Given the description of an element on the screen output the (x, y) to click on. 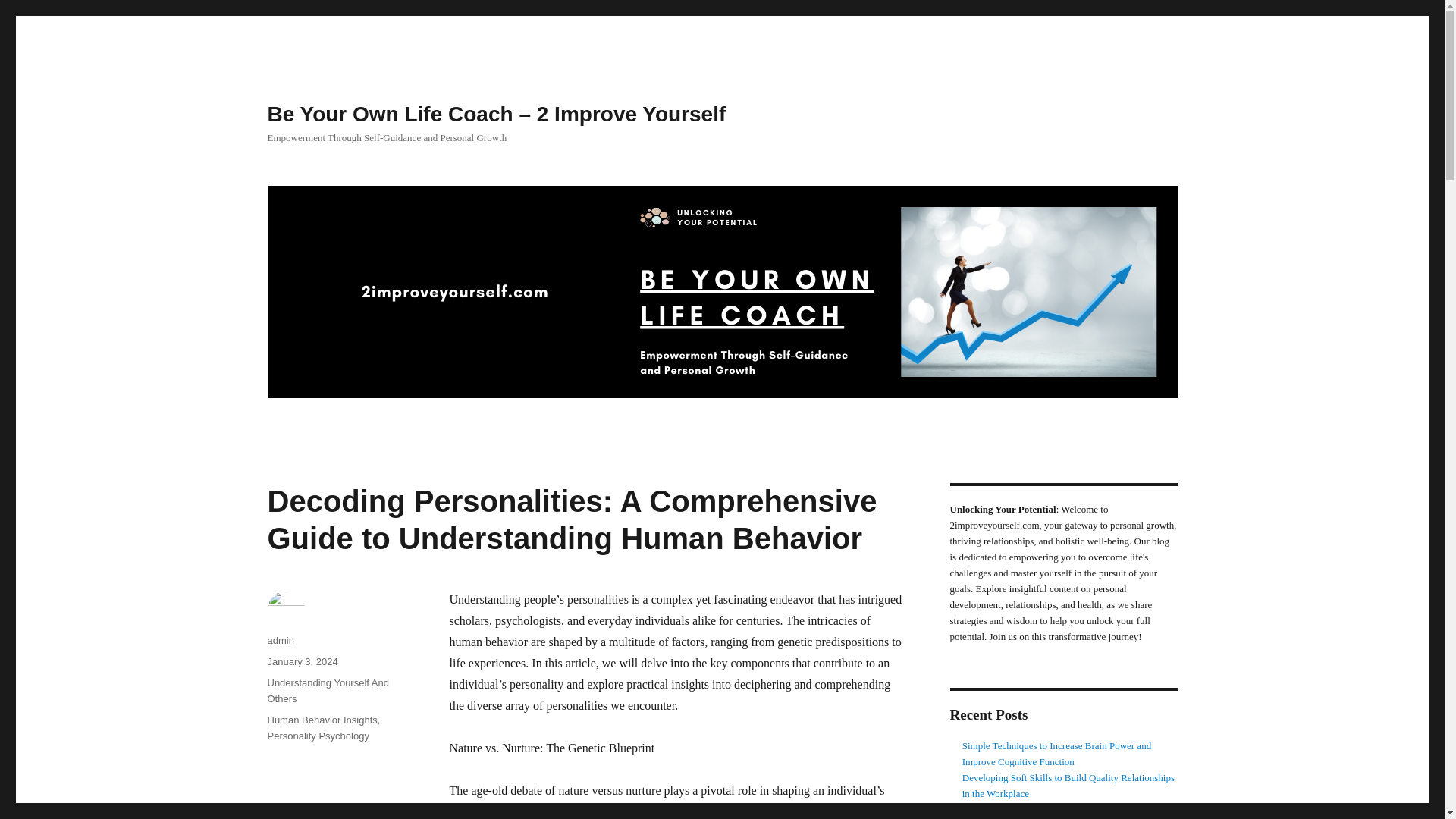
admin (280, 640)
Personality Psychology (317, 736)
Understanding Yourself And Others (327, 690)
Human Behavior Insights (321, 719)
January 3, 2024 (301, 661)
